Given the description of an element on the screen output the (x, y) to click on. 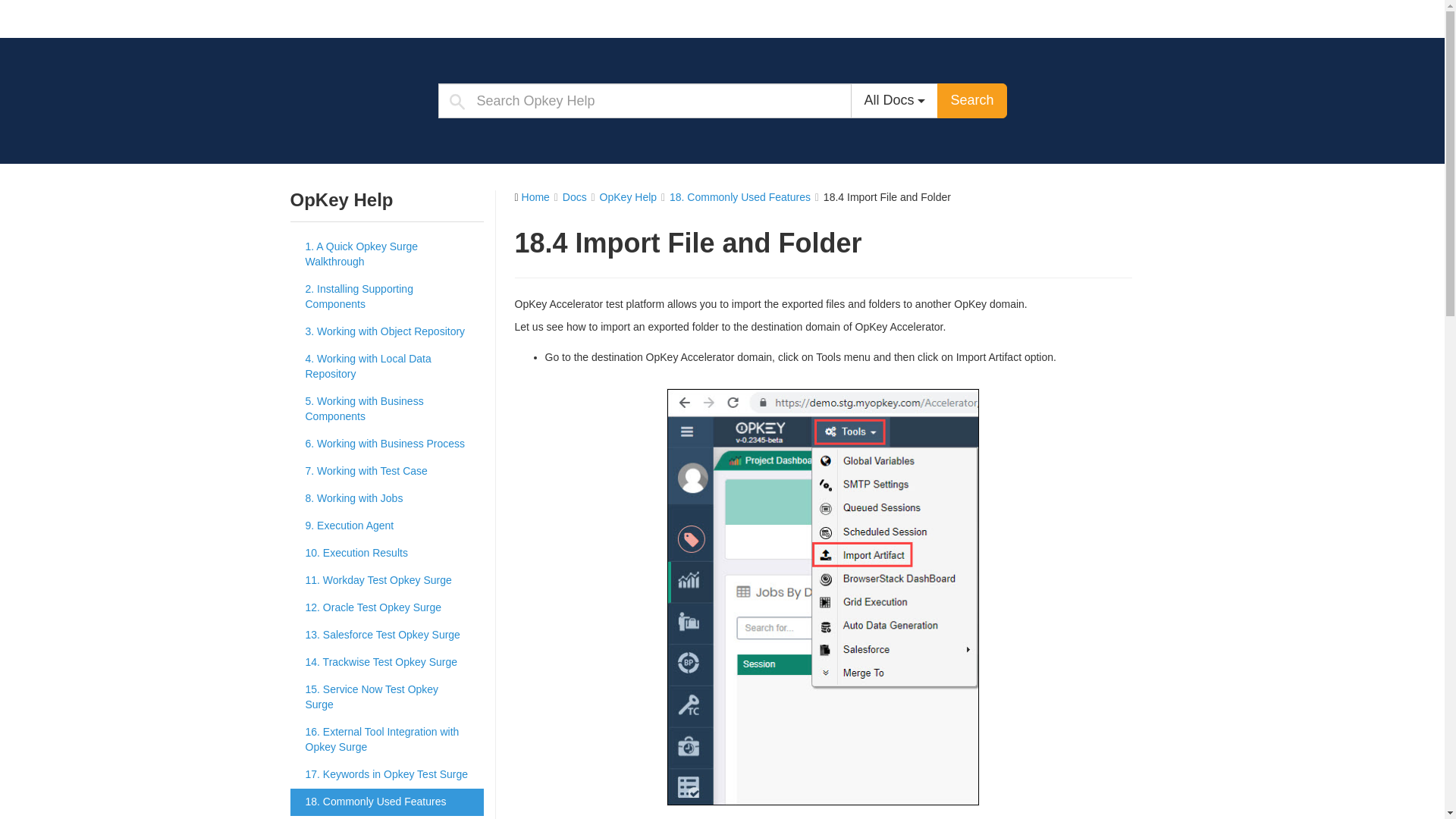
1. A Quick Opkey Surge Walkthrough (386, 254)
3. Working with Object Repository (386, 331)
5. Working with Business Components (386, 409)
4. Working with Local Data Repository (386, 366)
Search (971, 100)
2. Installing Supporting Components (386, 297)
6. Working with Business Process (386, 443)
All Docs (893, 100)
Opkey Help (373, 18)
